Given the description of an element on the screen output the (x, y) to click on. 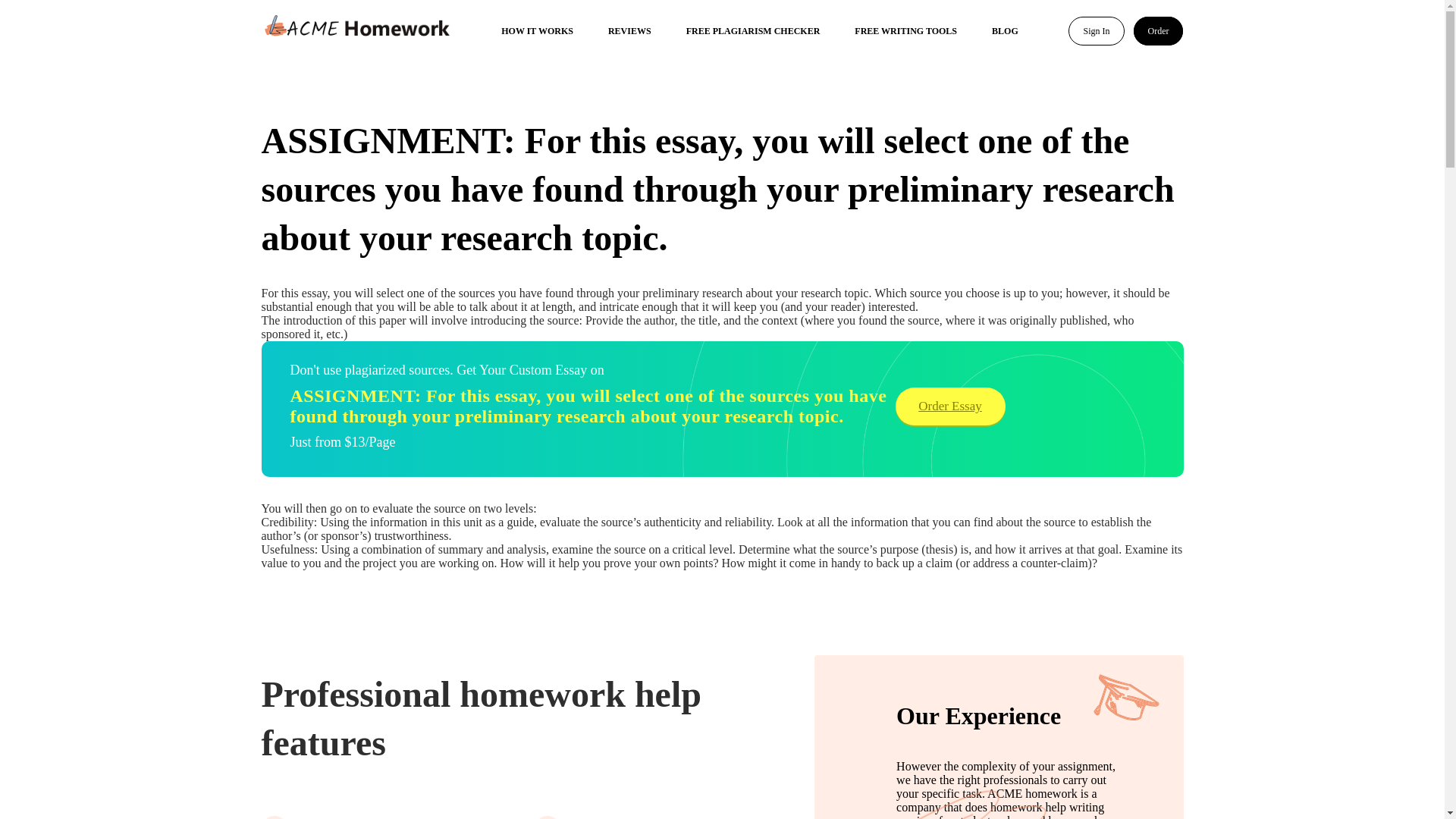
FREE WRITING TOOLS (905, 30)
REVIEWS (629, 30)
HOW IT WORKS (536, 30)
Order Essay (949, 406)
Sign In (1096, 30)
Order (1157, 30)
FREE PLAGIARISM CHECKER (753, 30)
BLOG (1004, 30)
